Given the description of an element on the screen output the (x, y) to click on. 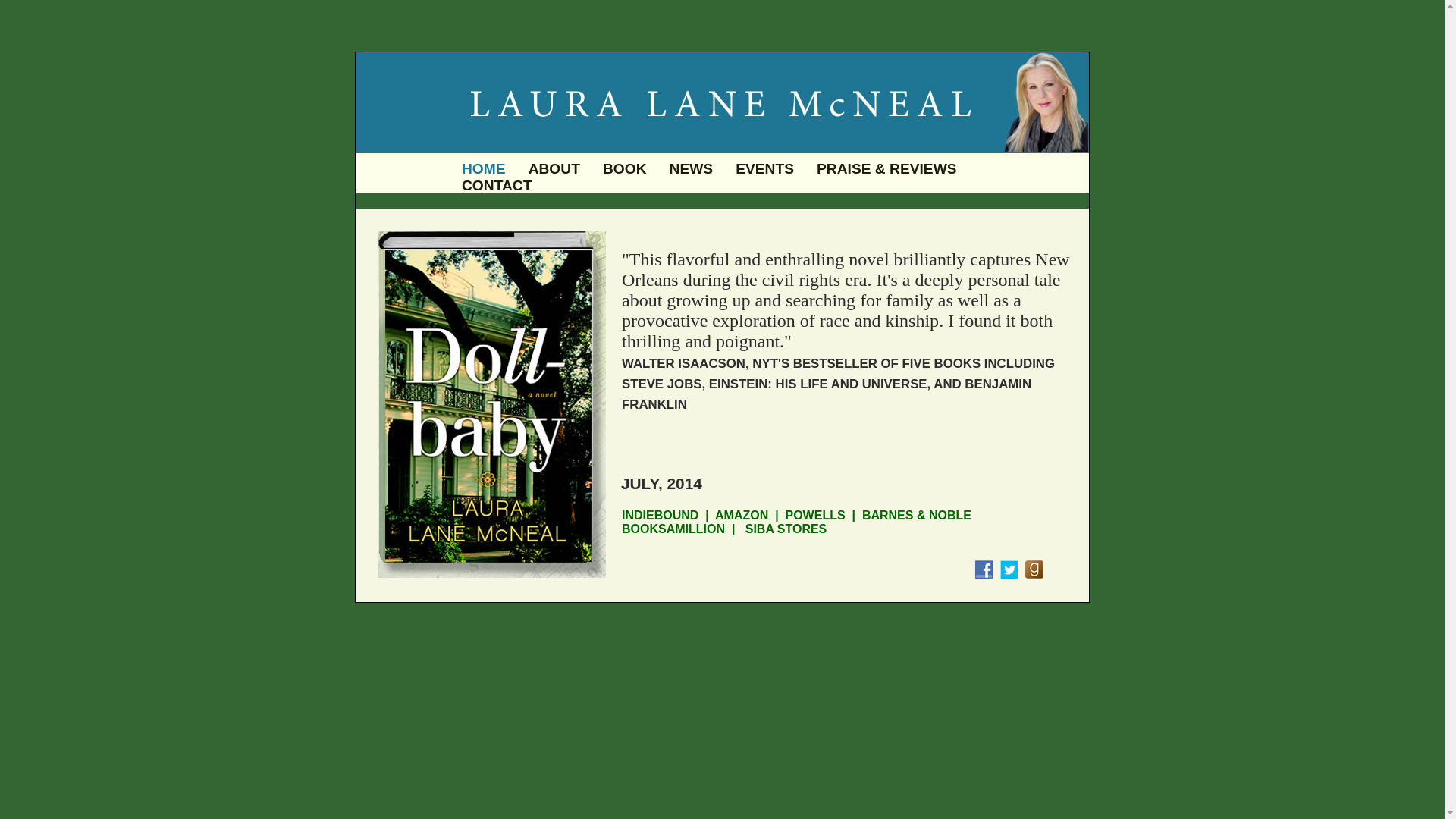
BOOK (624, 168)
POWELLS (815, 514)
NEWS (691, 168)
 SIBA STORES (784, 528)
INDIEBOUND (659, 514)
CONTACT (496, 185)
AMAZON (741, 514)
HOME (483, 168)
ABOUT (553, 168)
BOOKSAMILLION (673, 528)
EVENTS (764, 168)
